Given the description of an element on the screen output the (x, y) to click on. 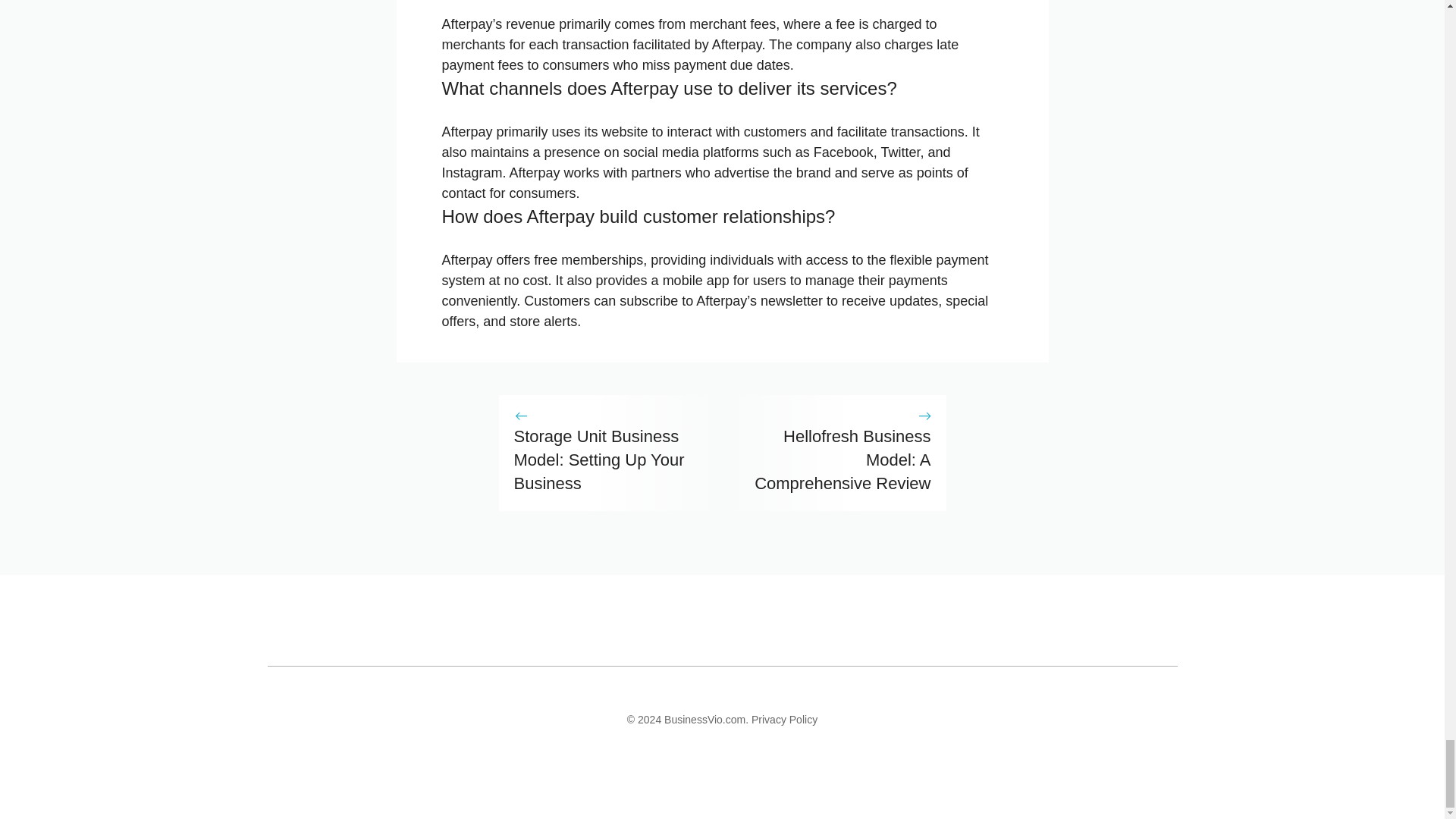
Storage Unit Business Model: Setting Up Your Business (598, 459)
Hellofresh Business Model: A Comprehensive Review (842, 459)
Privacy Policy (783, 719)
